Given the description of an element on the screen output the (x, y) to click on. 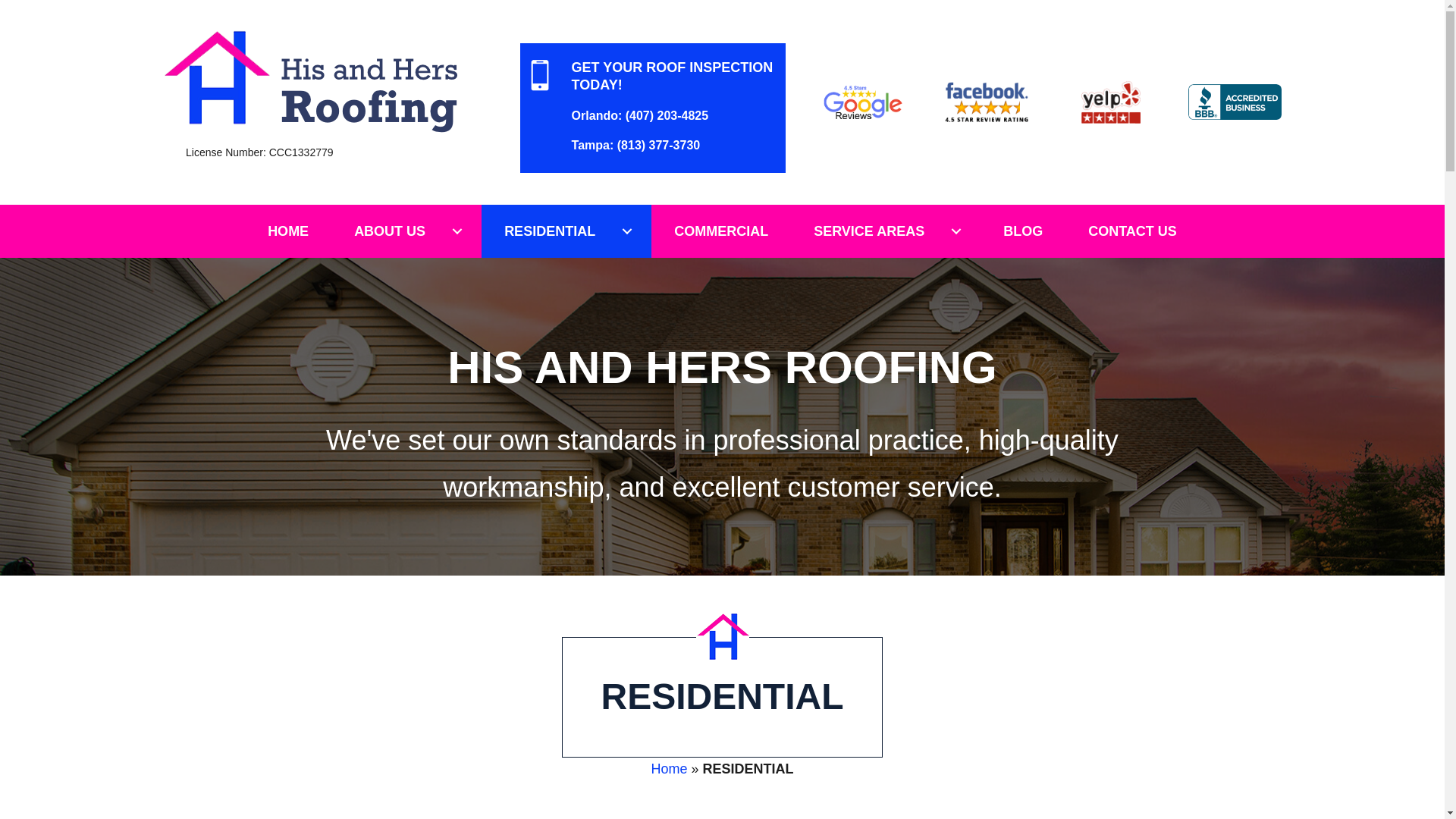
CONTACT US (1132, 231)
BLOG (1022, 231)
bbb2 (1234, 101)
SERVICE AREAS (884, 231)
HOME (287, 231)
4.5 Stars Google Reviews (863, 101)
his and hers roofing 1 (310, 81)
RESIDENTIAL (565, 231)
COMMERCIAL (720, 231)
ABOUT US (406, 231)
